Given the description of an element on the screen output the (x, y) to click on. 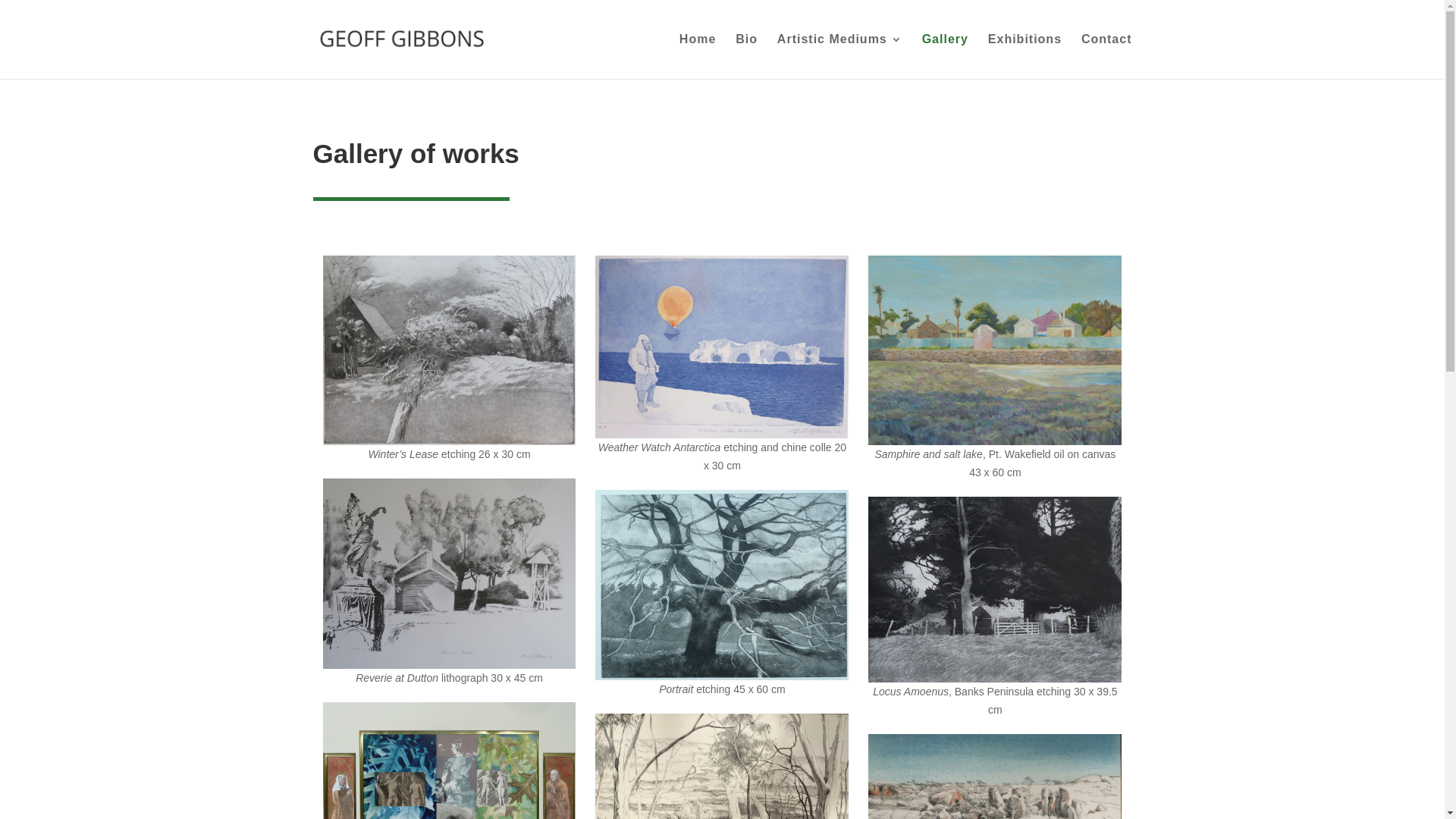
Bio Element type: text (746, 56)
Exhibitions Element type: text (1024, 56)
Contact Element type: text (1106, 56)
Artistic Mediums Element type: text (839, 56)
Gallery Element type: text (945, 56)
Home Element type: text (697, 56)
